Given the description of an element on the screen output the (x, y) to click on. 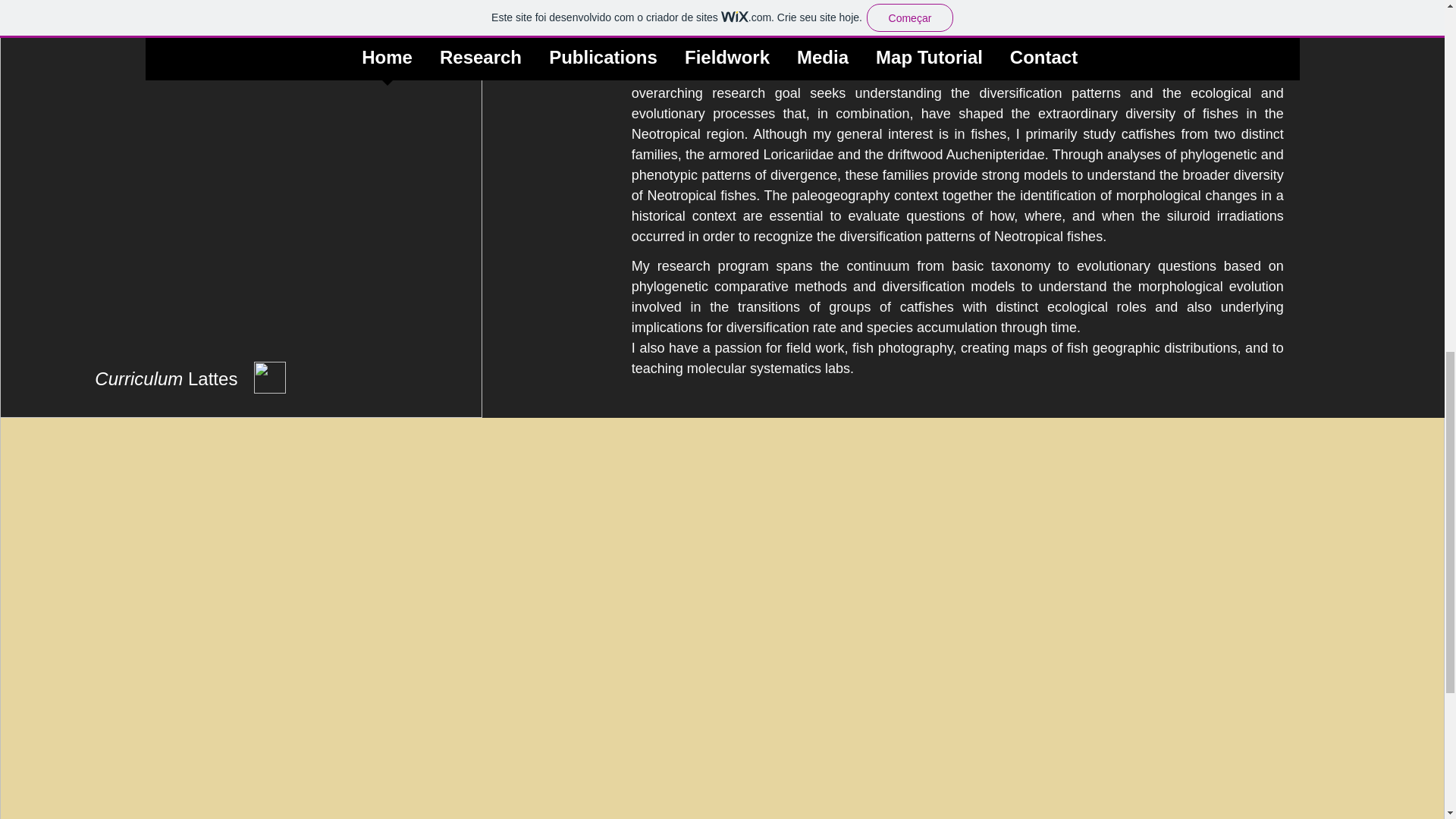
Curriculum vitae-Portuguese (589, 22)
Curriculum vitae-Portuguese (879, 22)
